Given the description of an element on the screen output the (x, y) to click on. 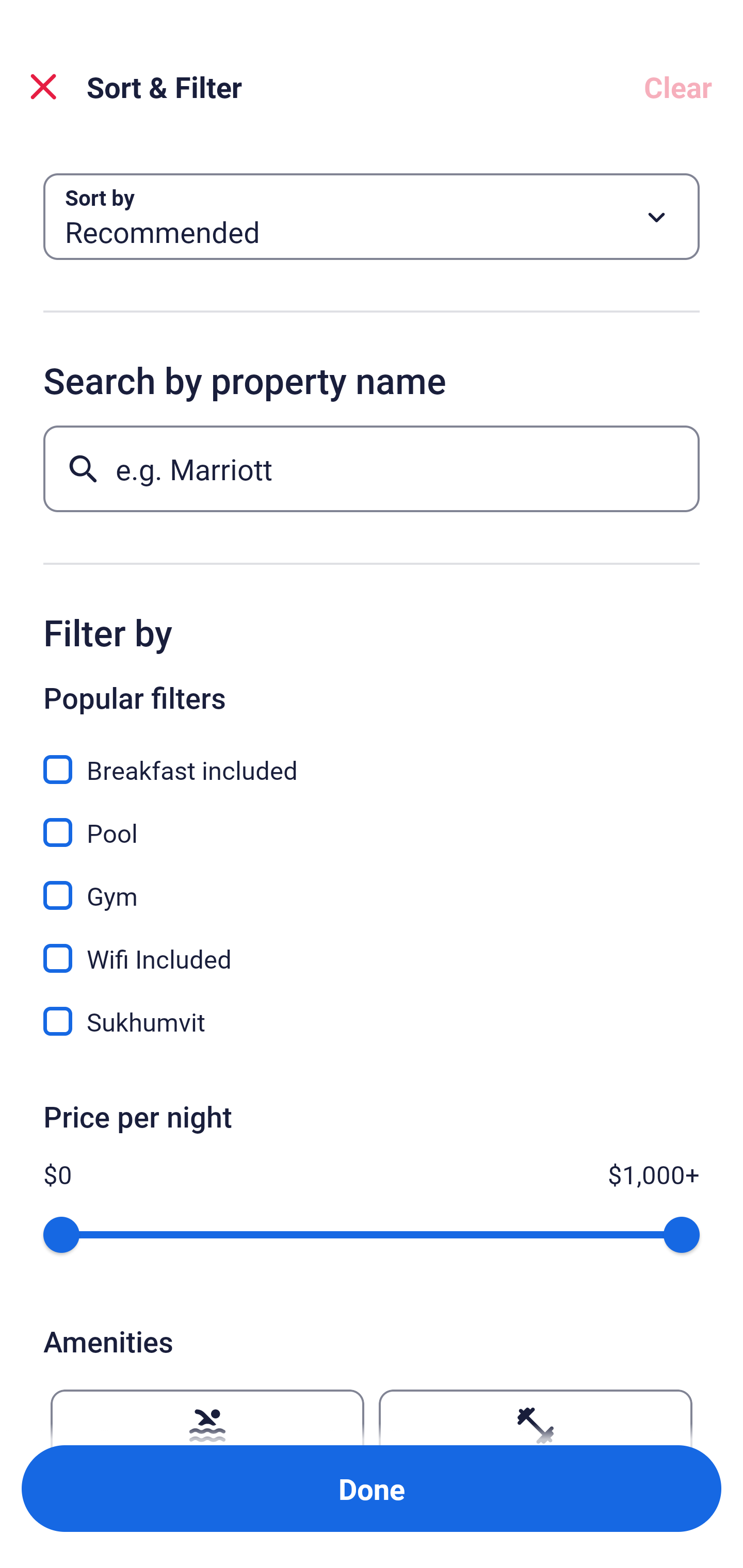
Close Sort and Filter (43, 86)
Clear (677, 86)
Sort by Button Recommended (371, 217)
e.g. Marriott Button (371, 468)
Breakfast included, Breakfast included (371, 757)
Pool, Pool (371, 821)
Gym, Gym (371, 883)
Wifi Included, Wifi Included (371, 946)
Sukhumvit, Sukhumvit (371, 1021)
Apply and close Sort and Filter Done (371, 1488)
